Given the description of an element on the screen output the (x, y) to click on. 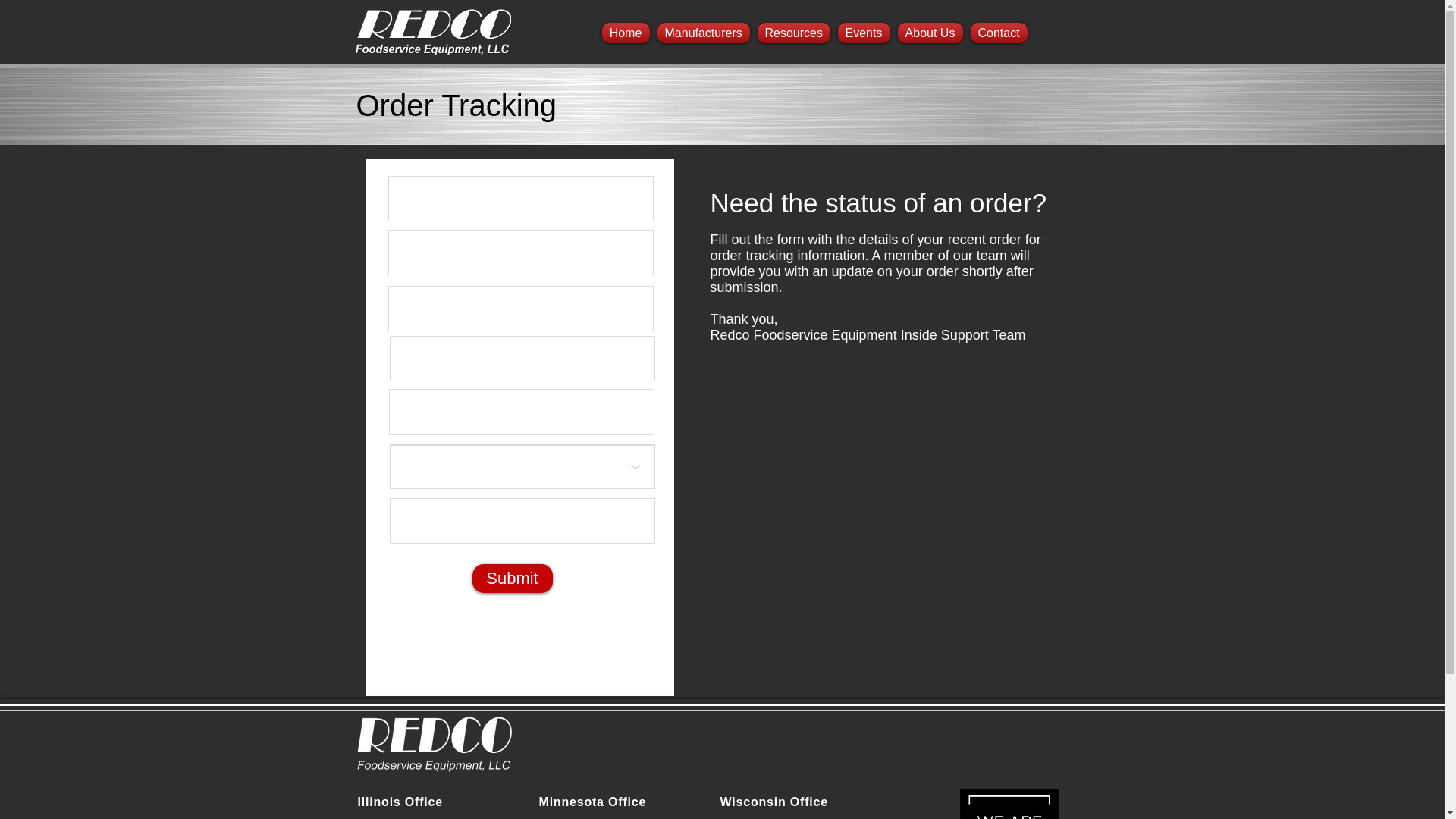
Submit (511, 578)
Home (624, 32)
Contact (998, 32)
About Us (929, 32)
Events (863, 32)
Manufacturers (703, 32)
Resources (794, 32)
